Given the description of an element on the screen output the (x, y) to click on. 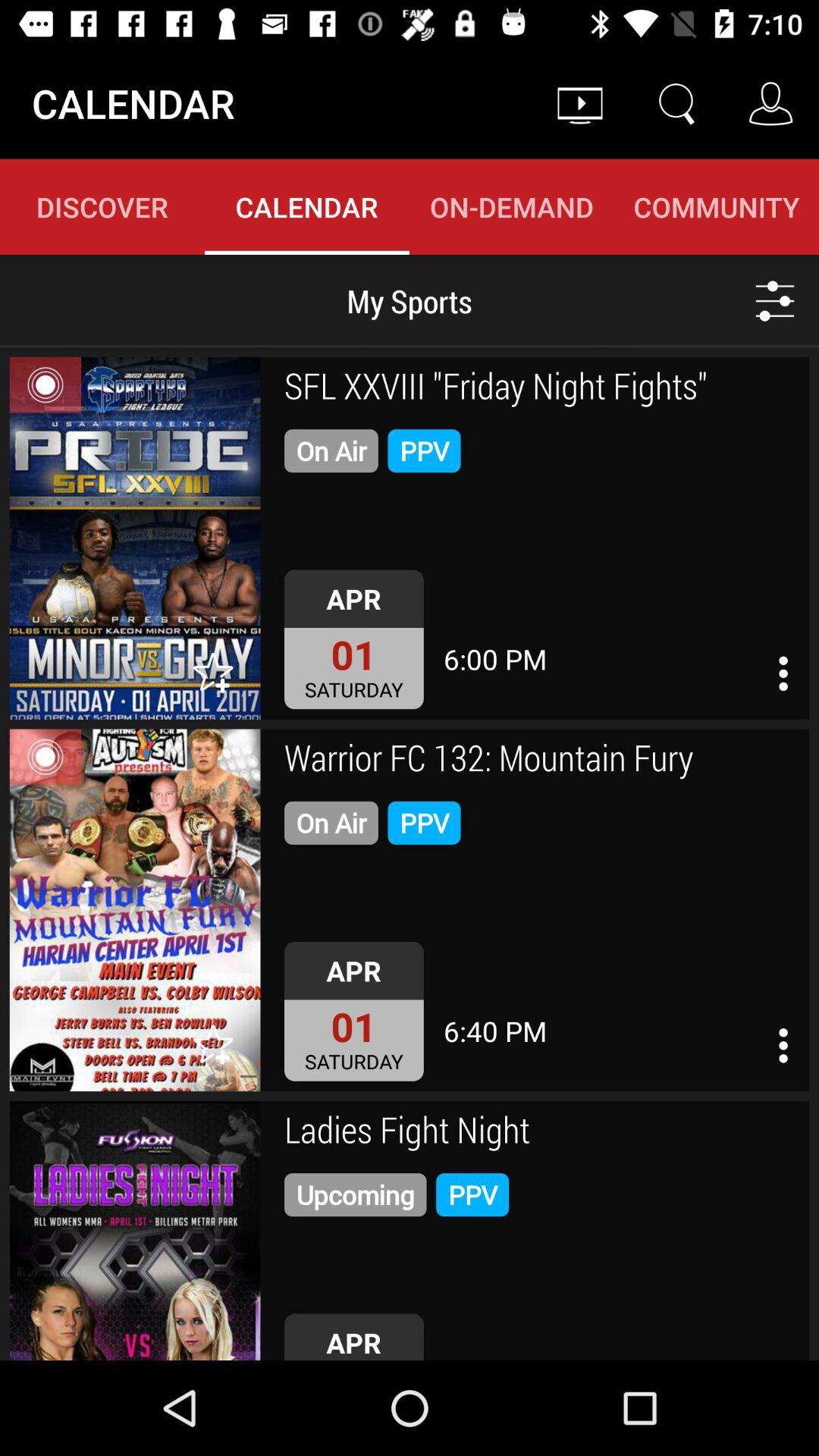
open icon above the on air (541, 760)
